Given the description of an element on the screen output the (x, y) to click on. 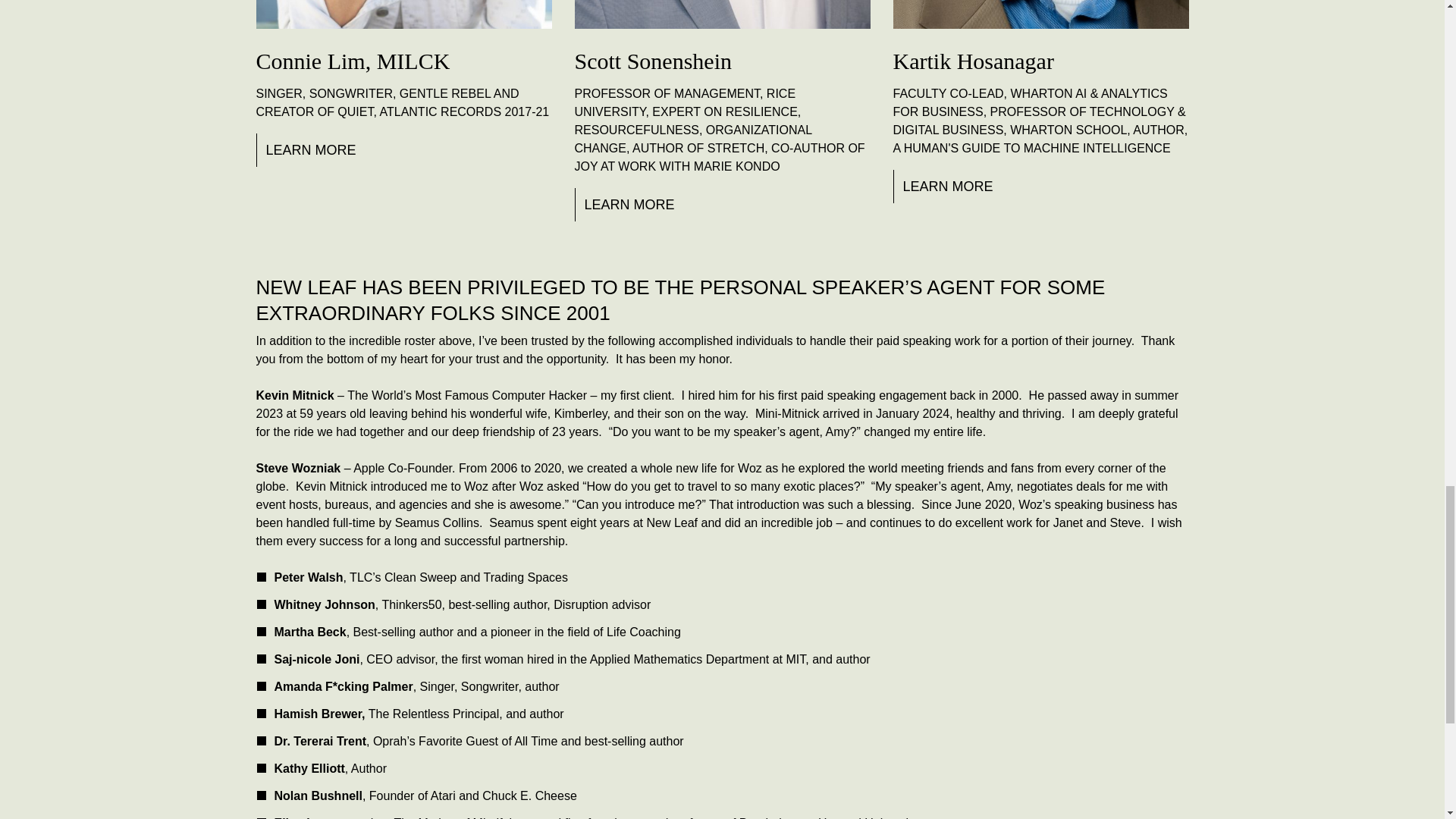
LEARN MORE (945, 186)
LEARN MORE (627, 204)
LEARN MORE (308, 150)
